Given the description of an element on the screen output the (x, y) to click on. 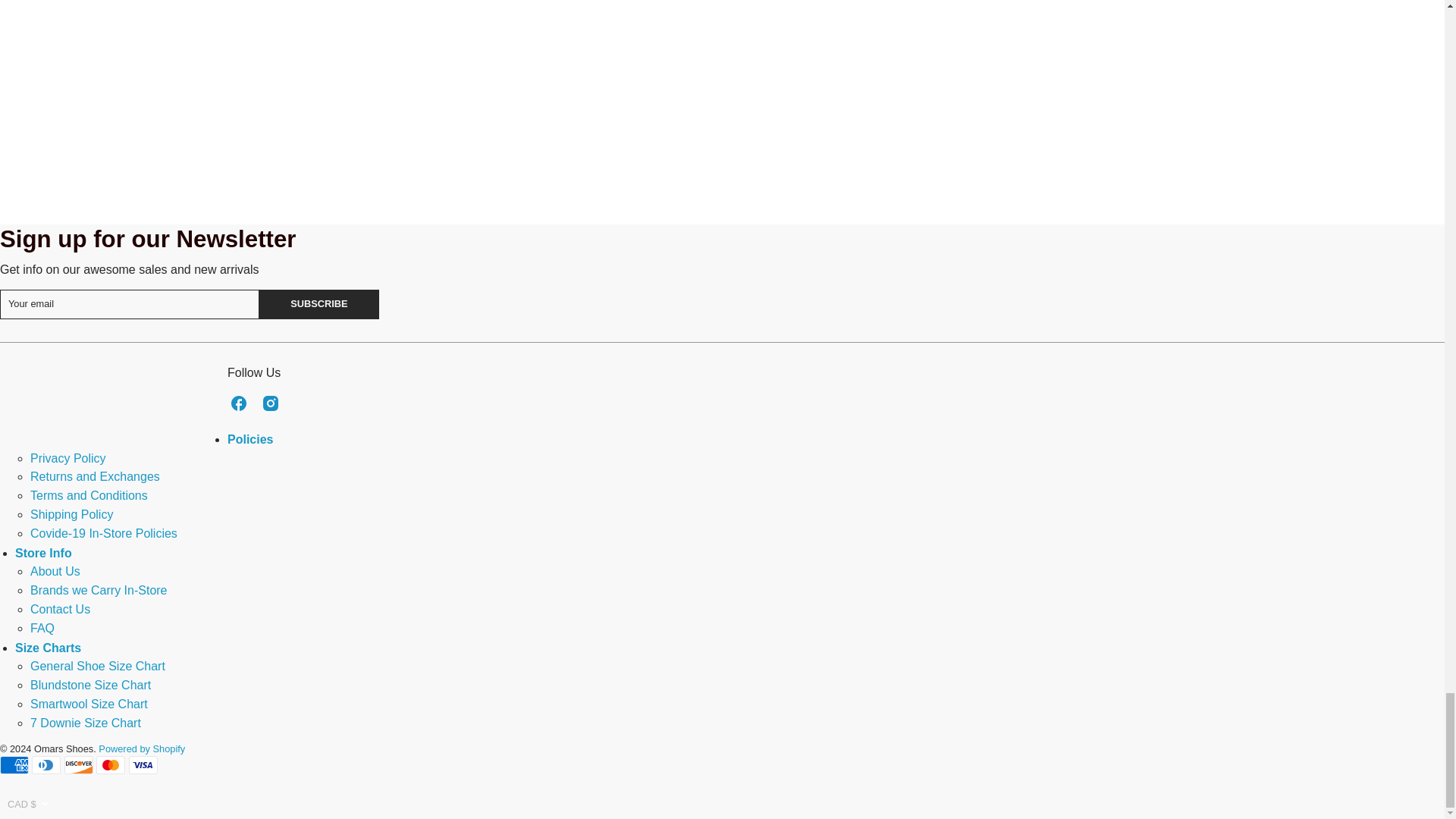
Discover (78, 764)
American Express (14, 764)
Diners Club (46, 764)
Visa (143, 764)
Mastercard (110, 764)
